Given the description of an element on the screen output the (x, y) to click on. 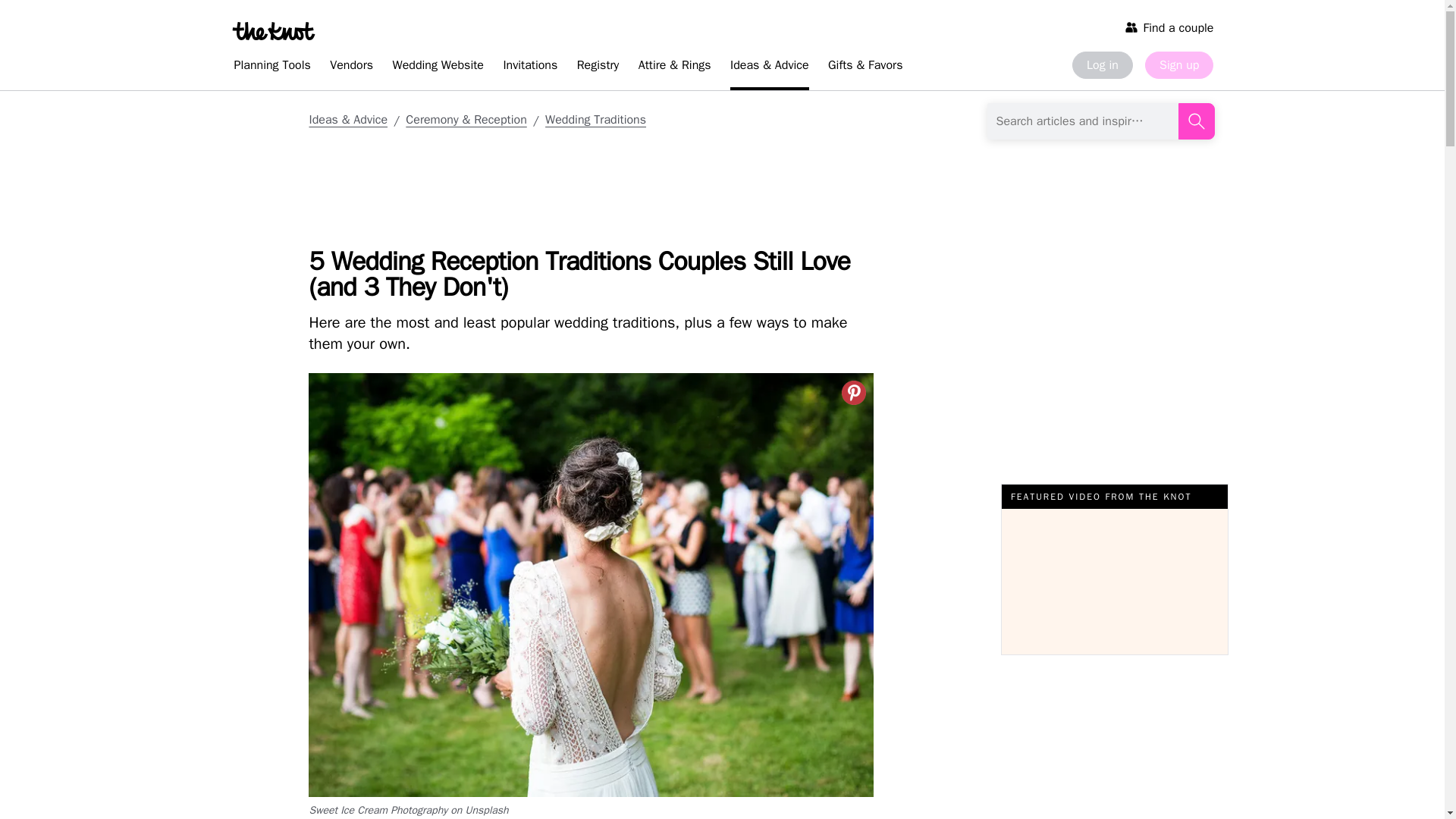
Log in (1101, 64)
Vendors (350, 67)
Wedding Website (438, 67)
Find a couple (1169, 27)
Invitations (529, 67)
Registry (598, 67)
Sign up (1178, 64)
Planning Tools (271, 67)
